Given the description of an element on the screen output the (x, y) to click on. 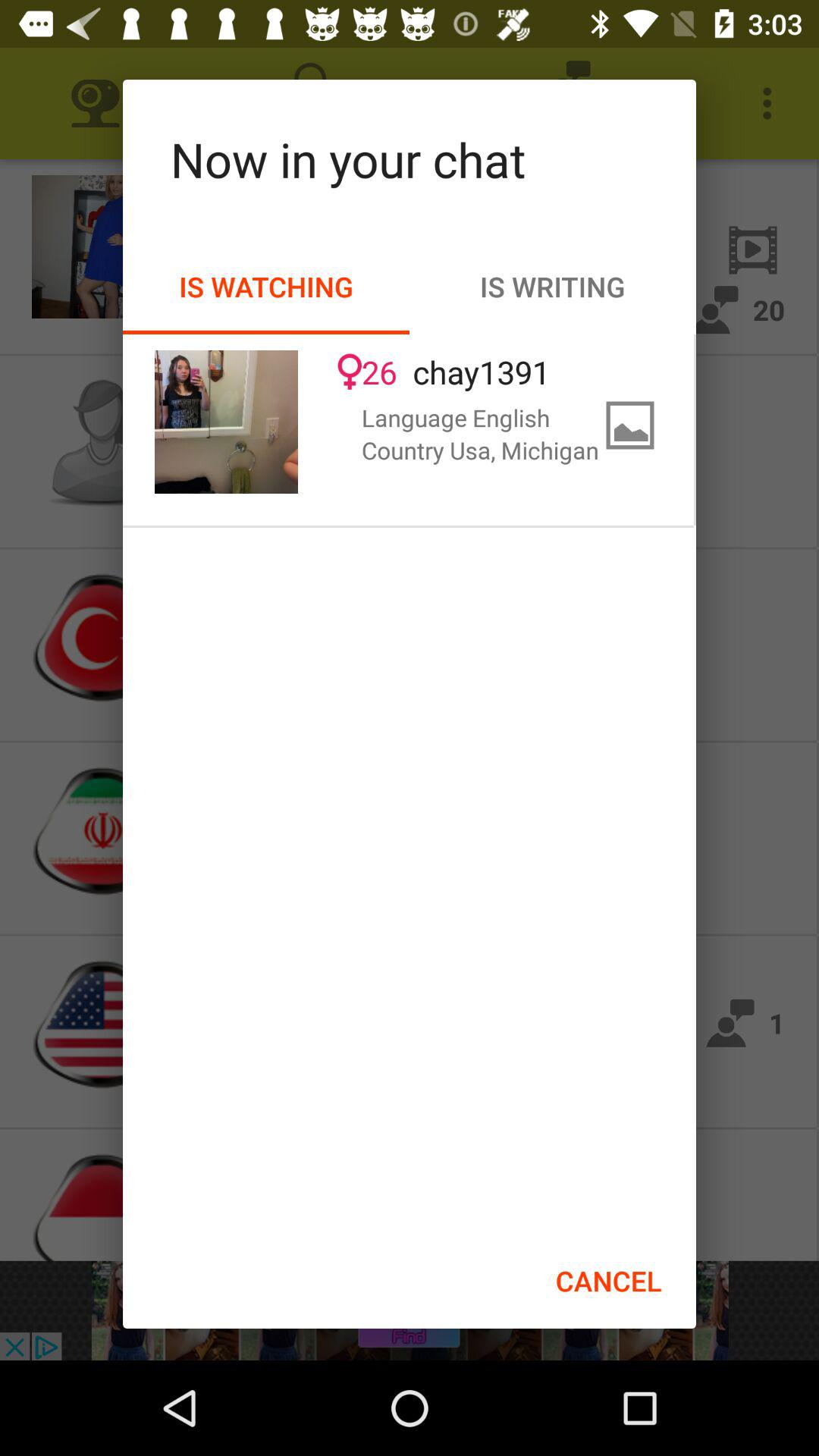
view profile (226, 421)
